Given the description of an element on the screen output the (x, y) to click on. 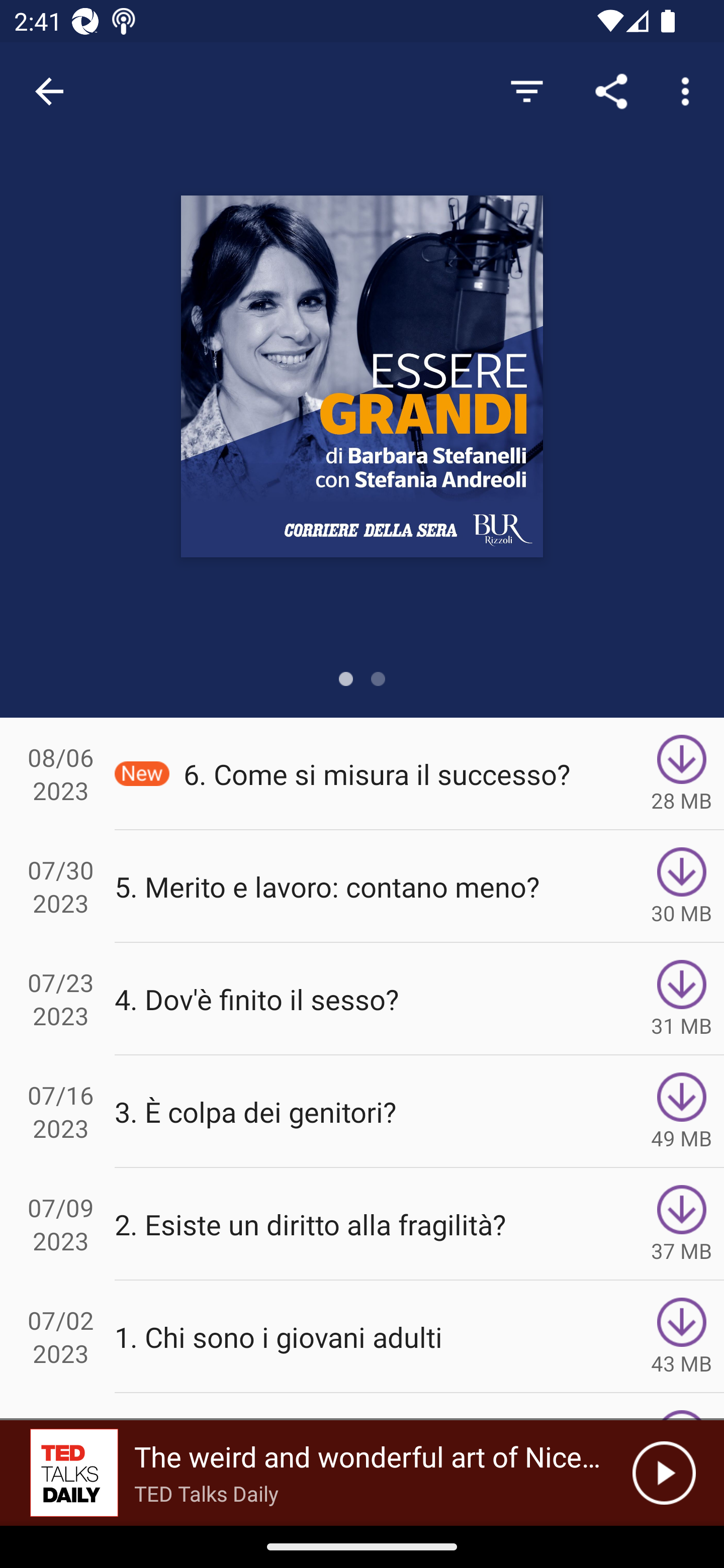
Navigate up (49, 91)
Hide Episodes (526, 90)
Share Link (611, 90)
More options (688, 90)
Download 28 MB (681, 773)
Download 30 MB (681, 885)
Download 31 MB (681, 998)
07/16 2023 3. È colpa dei genitori? Download 49 MB (362, 1111)
Download 49 MB (681, 1111)
Download 37 MB (681, 1224)
Download 43 MB (681, 1336)
Play (663, 1472)
